Given the description of an element on the screen output the (x, y) to click on. 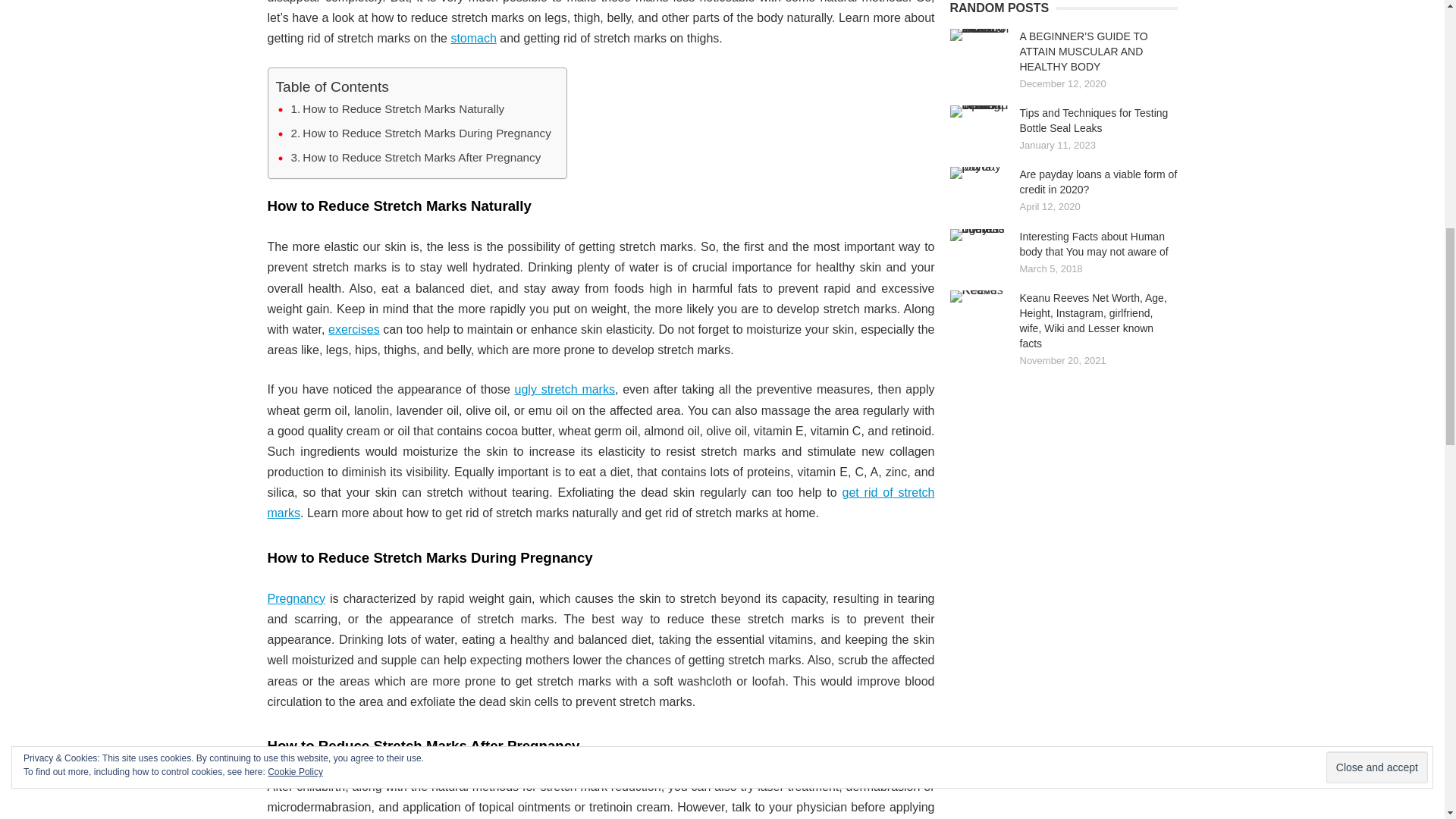
How to Reduce Stretch Marks After Pregnancy (416, 157)
How to Reduce Stretch Marks Naturally (398, 108)
How to Reduce Stretch Marks During Pregnancy (421, 133)
